Given the description of an element on the screen output the (x, y) to click on. 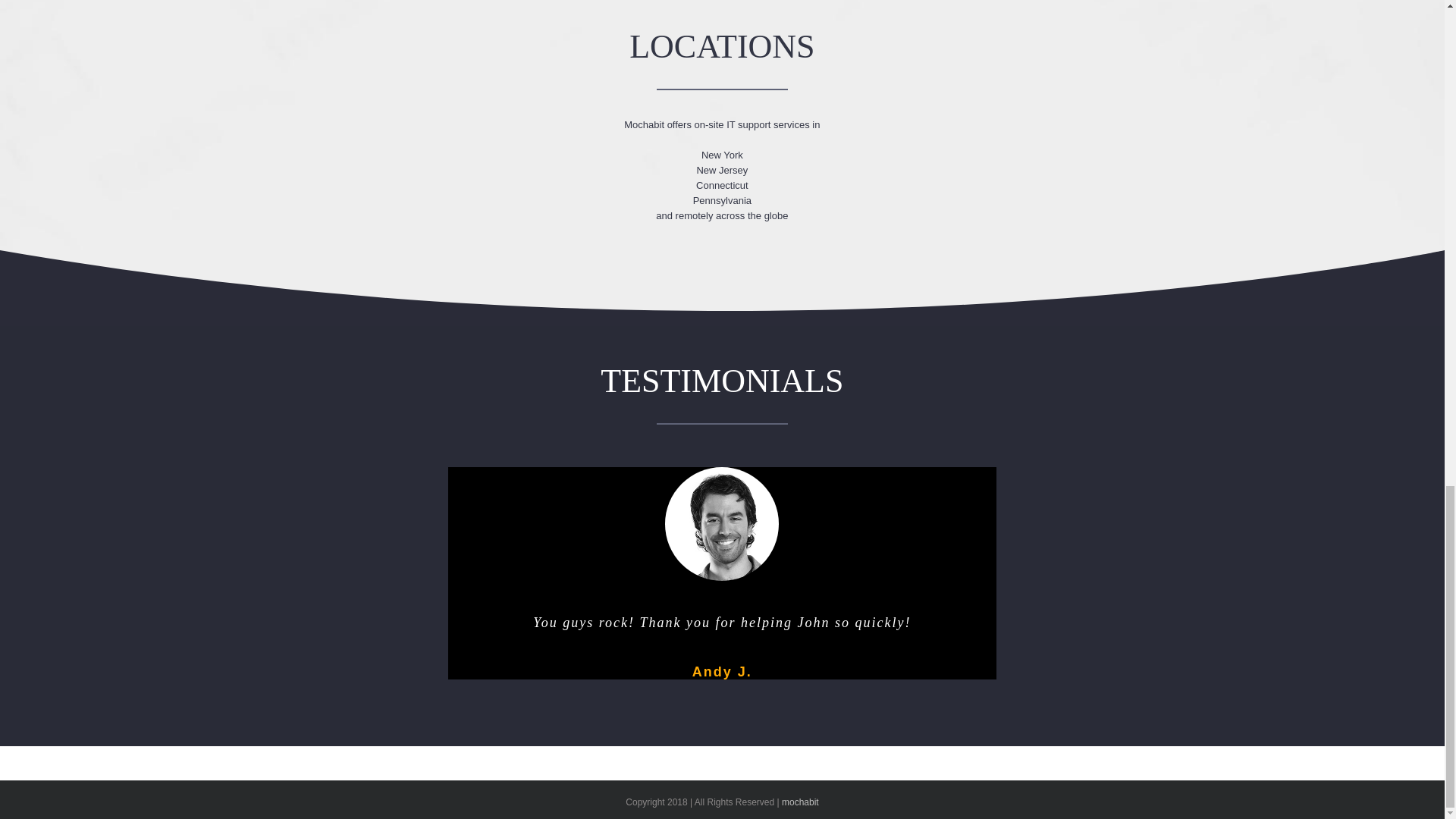
mochabit (799, 801)
